Given the description of an element on the screen output the (x, y) to click on. 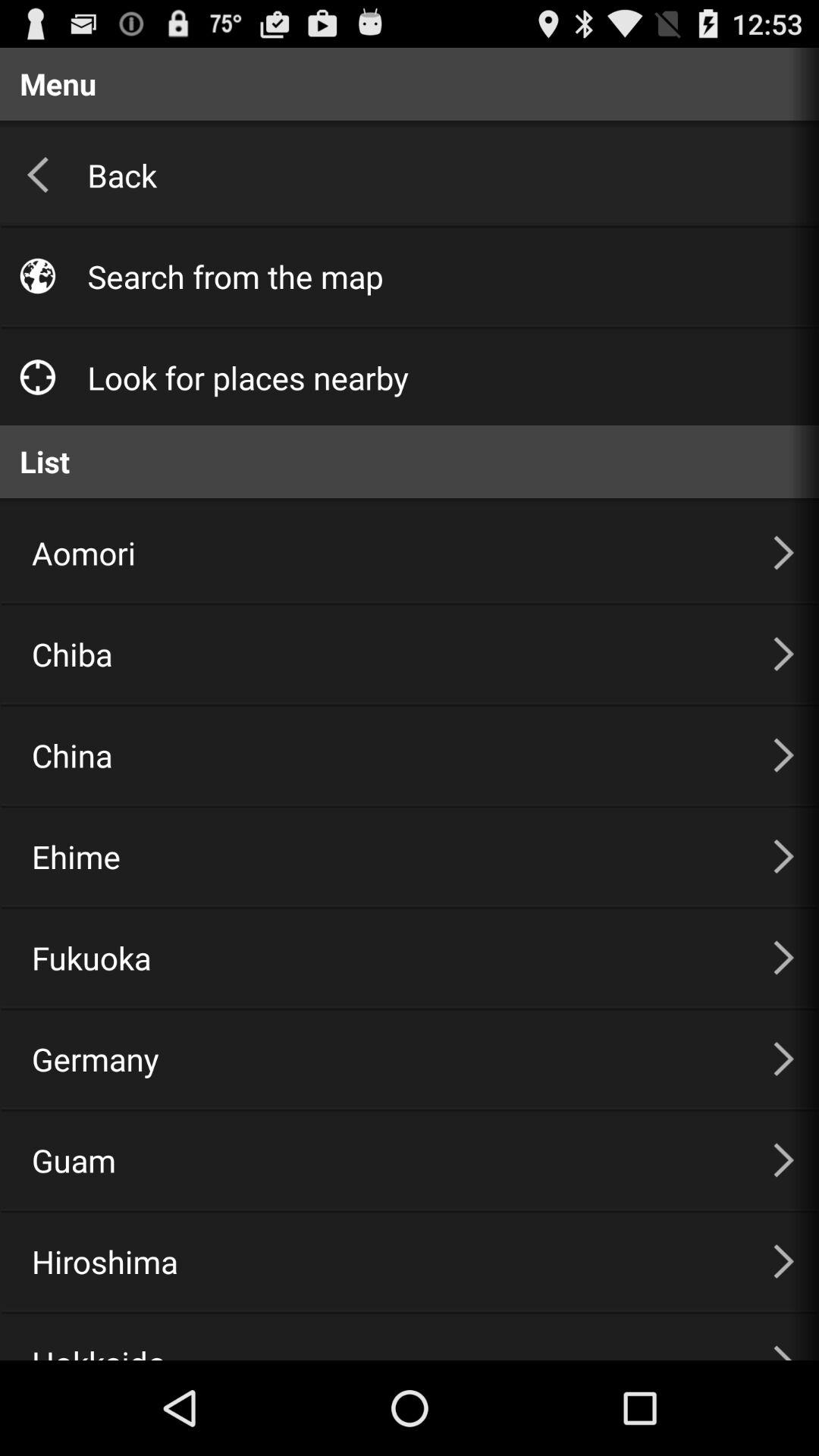
choose item below china icon (384, 856)
